Given the description of an element on the screen output the (x, y) to click on. 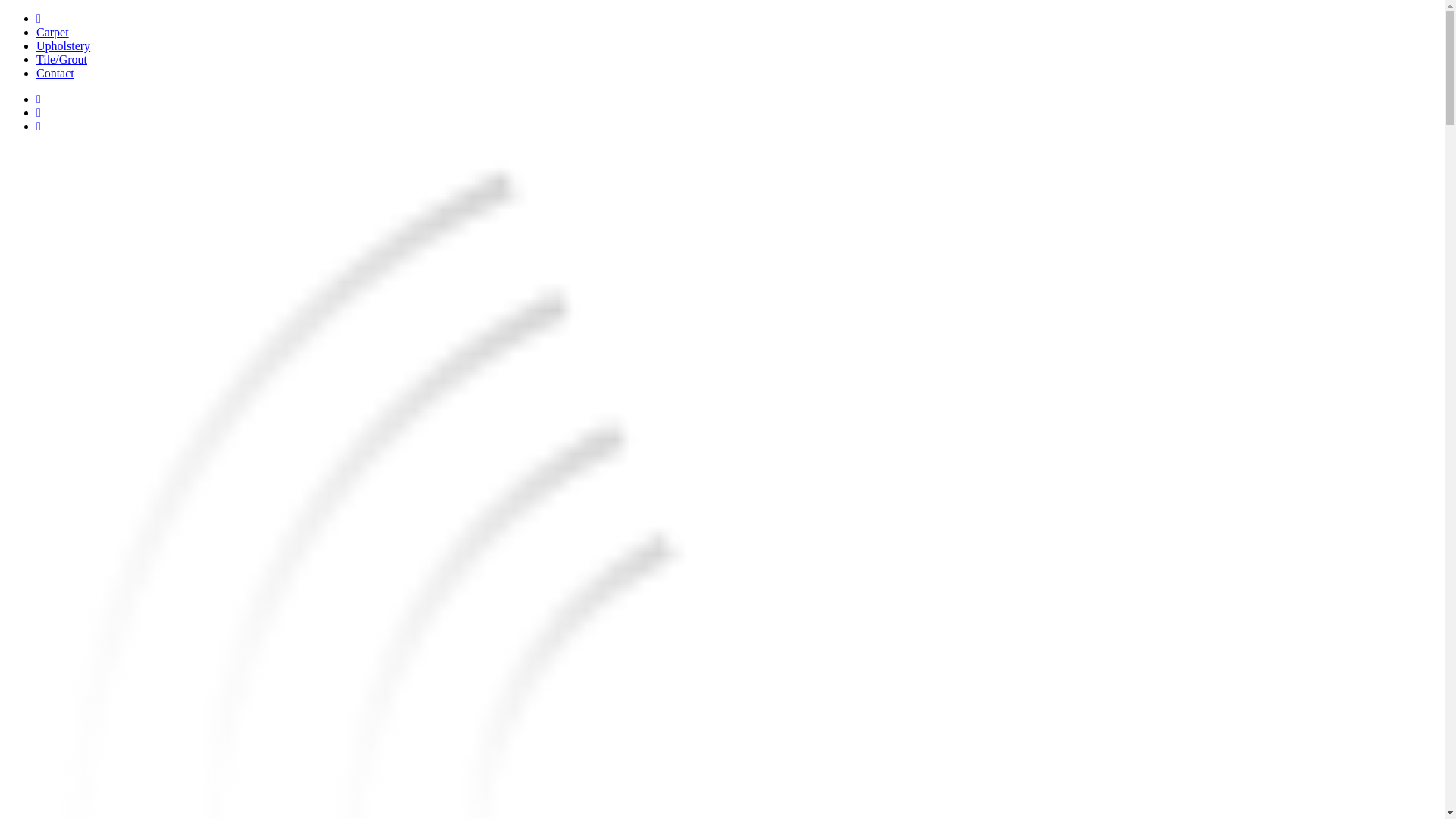
Contact (55, 72)
Upholstery (63, 45)
Carpet (52, 31)
